Given the description of an element on the screen output the (x, y) to click on. 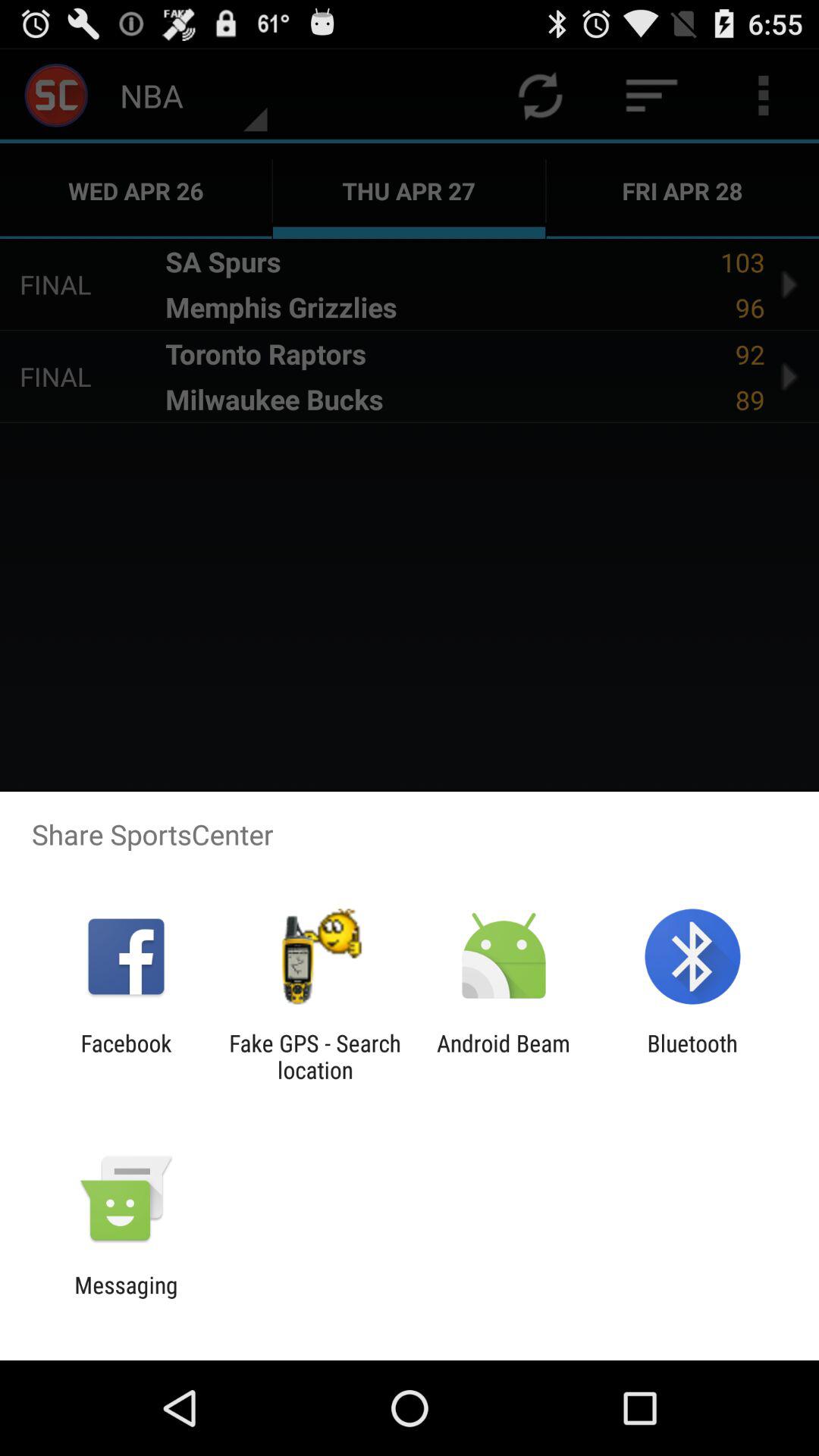
open android beam item (503, 1056)
